Given the description of an element on the screen output the (x, y) to click on. 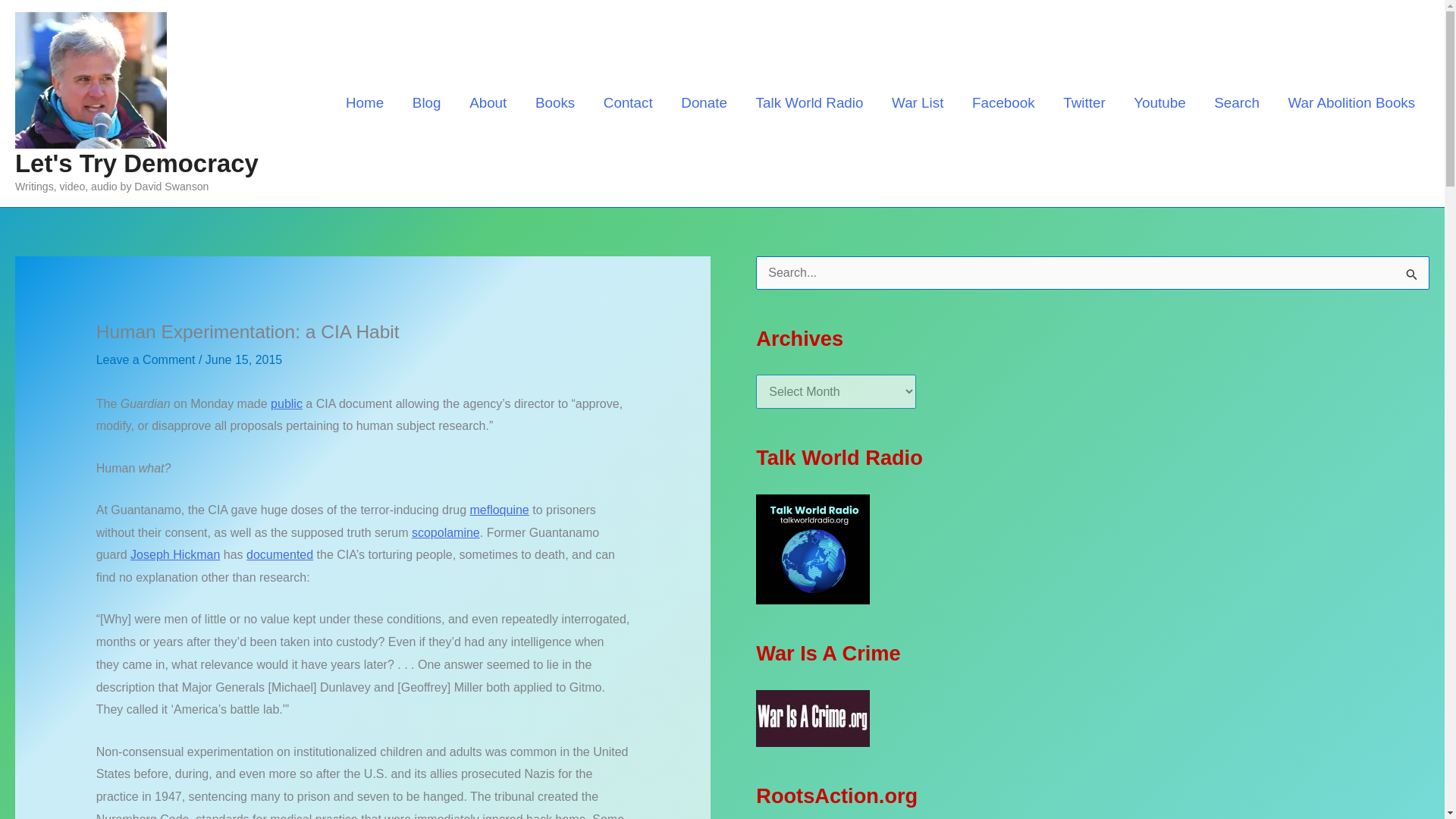
public (286, 403)
Search (1235, 102)
Let's Try Democracy (136, 163)
mefloquine (498, 509)
About (487, 102)
Contact (627, 102)
Home (364, 102)
Youtube (1159, 102)
scopolamine (446, 532)
Blog (425, 102)
